Given the description of an element on the screen output the (x, y) to click on. 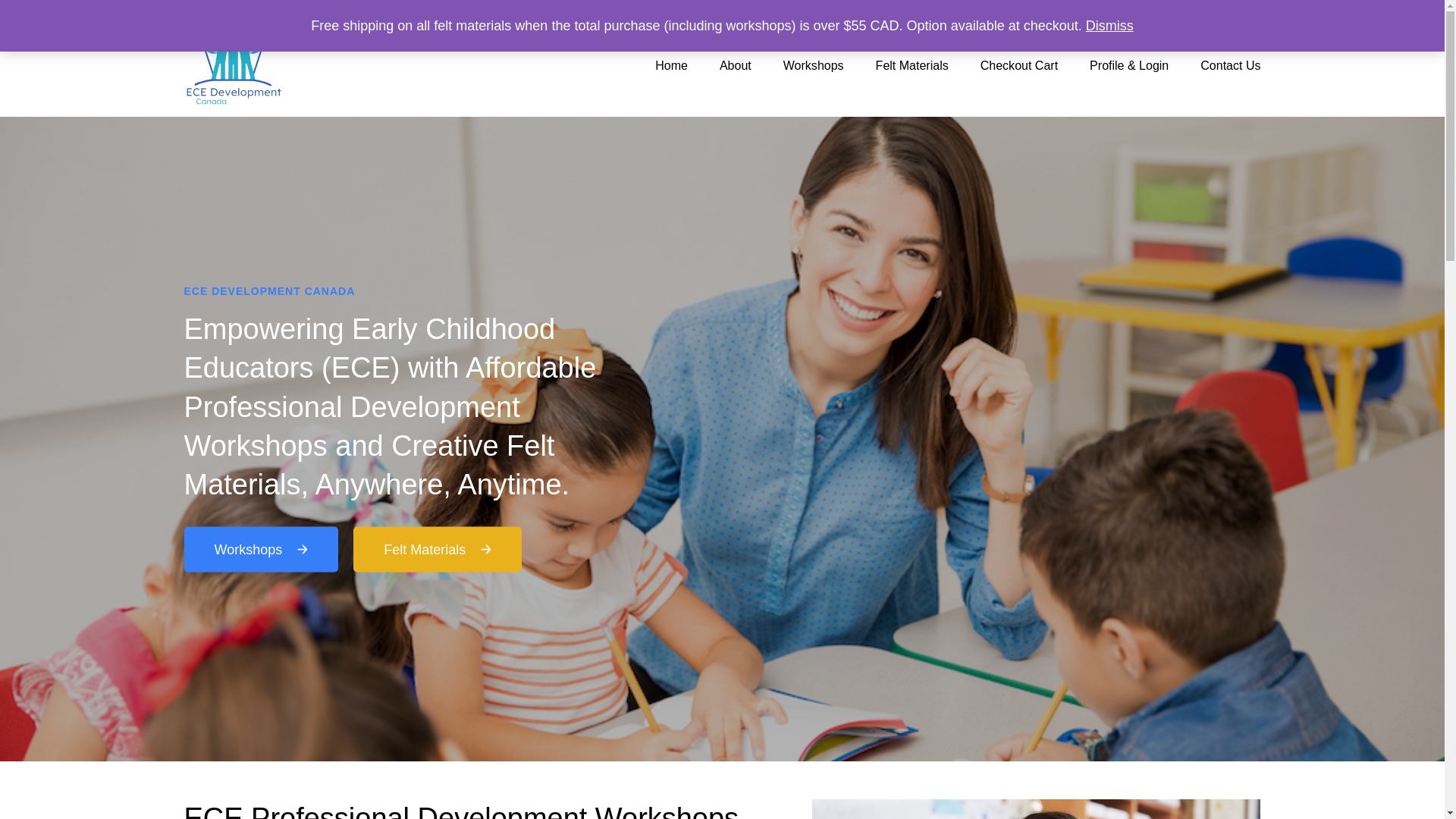
Checkout Cart (1018, 65)
Home (671, 65)
About (735, 65)
Contact Us (1222, 65)
Workshops (260, 549)
ECE Development Canada (383, 131)
Workshops (813, 65)
Dismiss (1110, 25)
Felt Materials (911, 65)
Felt Materials (437, 549)
